Given the description of an element on the screen output the (x, y) to click on. 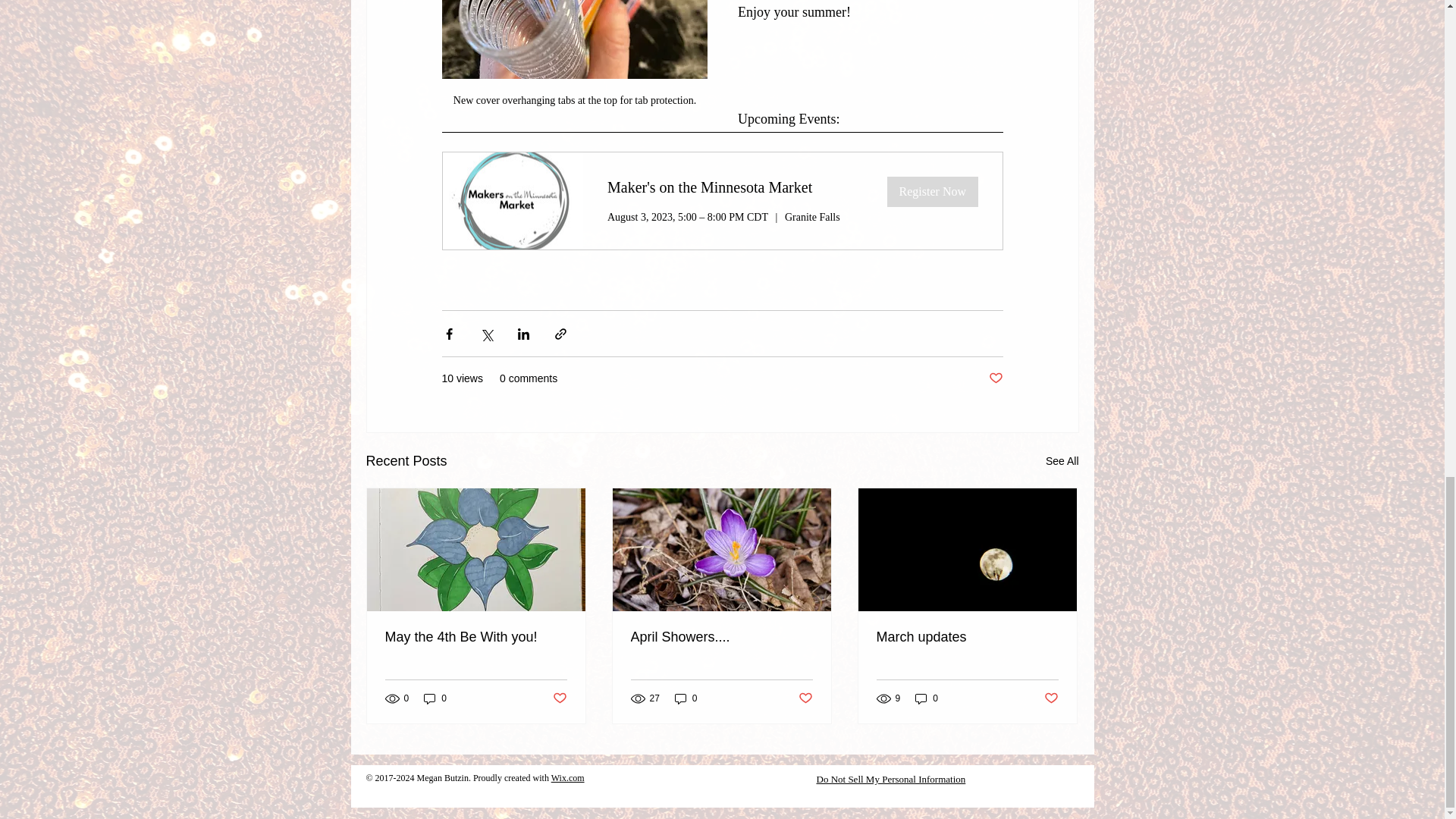
0 (926, 698)
0 (685, 698)
March updates (967, 637)
Post not marked as liked (995, 378)
April Showers.... (721, 637)
Wix.com (568, 777)
0 (435, 698)
See All (1061, 461)
May the 4th Be With you! (476, 637)
Post not marked as liked (804, 698)
Do Not Sell My Personal Information (890, 779)
Post not marked as liked (1050, 698)
Post not marked as liked (558, 698)
